Given the description of an element on the screen output the (x, y) to click on. 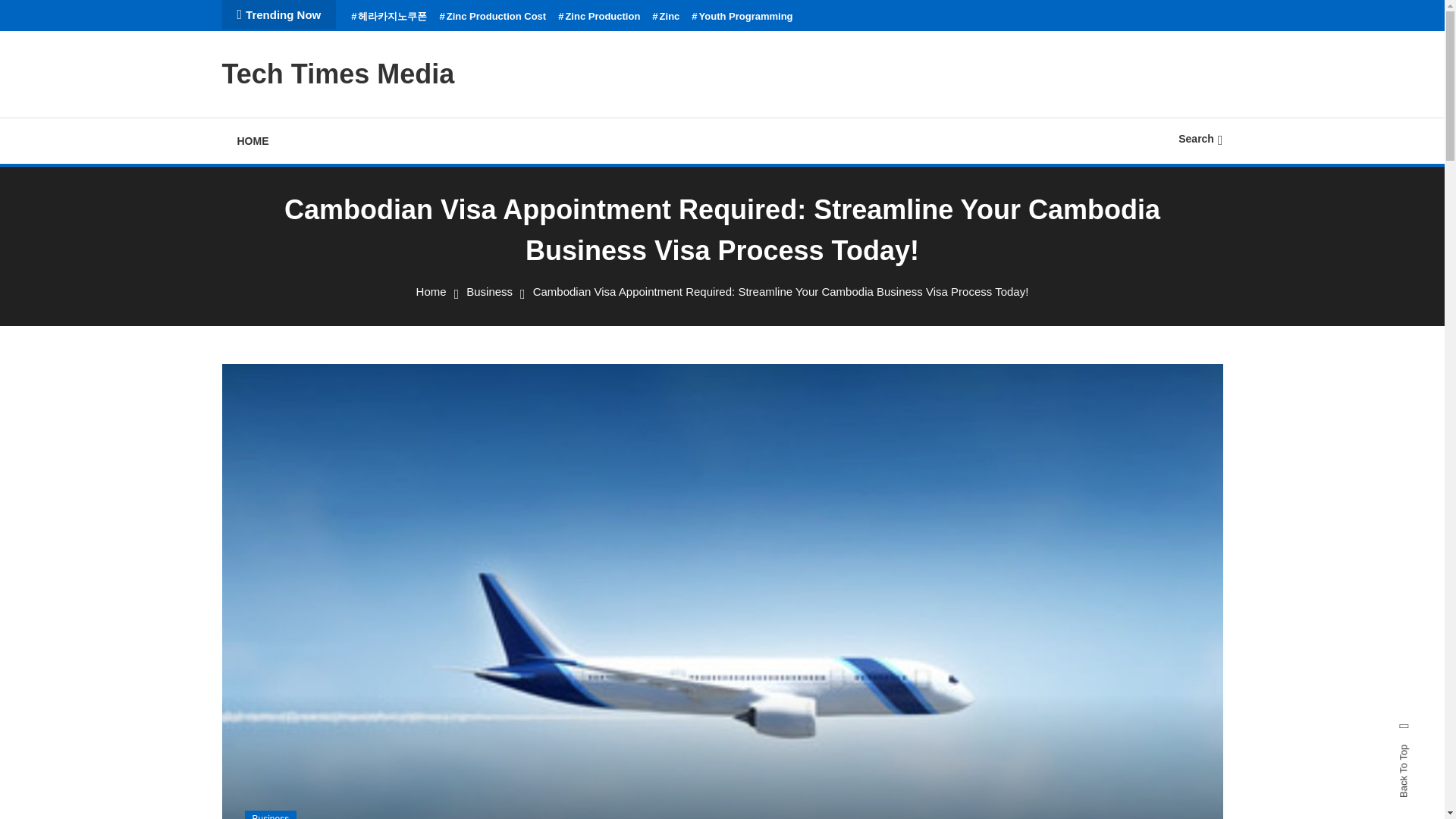
HOME (252, 140)
Zinc Production (598, 16)
Zinc (665, 16)
Youth Programming (741, 16)
Tech Times Media (337, 73)
Zinc Production Cost (492, 16)
Home (431, 291)
Search (768, 434)
Business (488, 291)
Search (1200, 138)
Business (270, 814)
